Given the description of an element on the screen output the (x, y) to click on. 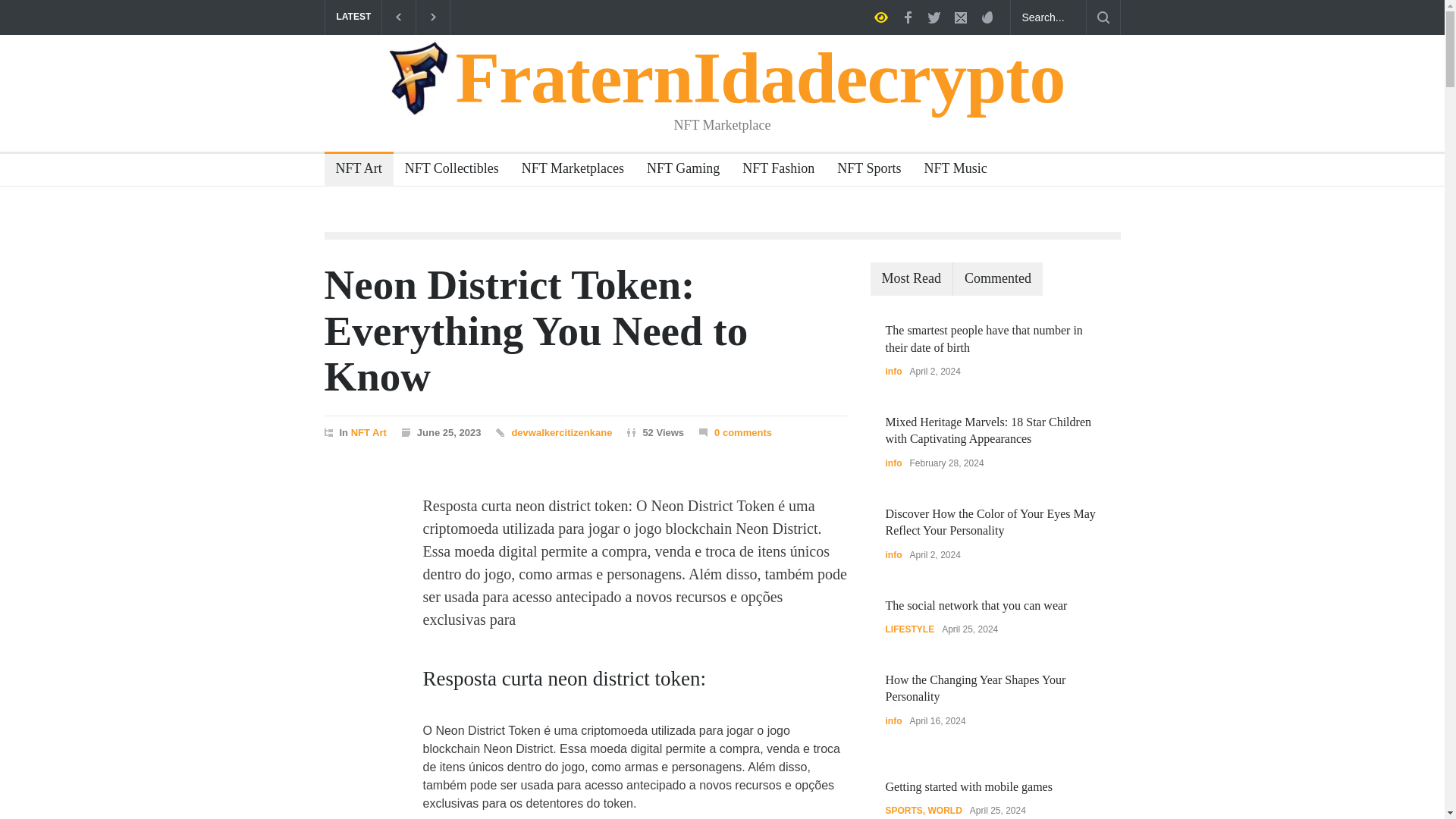
NFT Collectibles (446, 169)
NFT Gaming (676, 169)
fraternidadecrypto (722, 78)
NFT Fashion (771, 169)
Search... (1048, 17)
Search... (1048, 17)
Neon District Token: Everything You Need to Know (536, 330)
NFT Sports (863, 169)
0 comments (734, 432)
NFT Art (352, 169)
FraternIdadecrypto (722, 78)
NFT Art (368, 431)
